Given the description of an element on the screen output the (x, y) to click on. 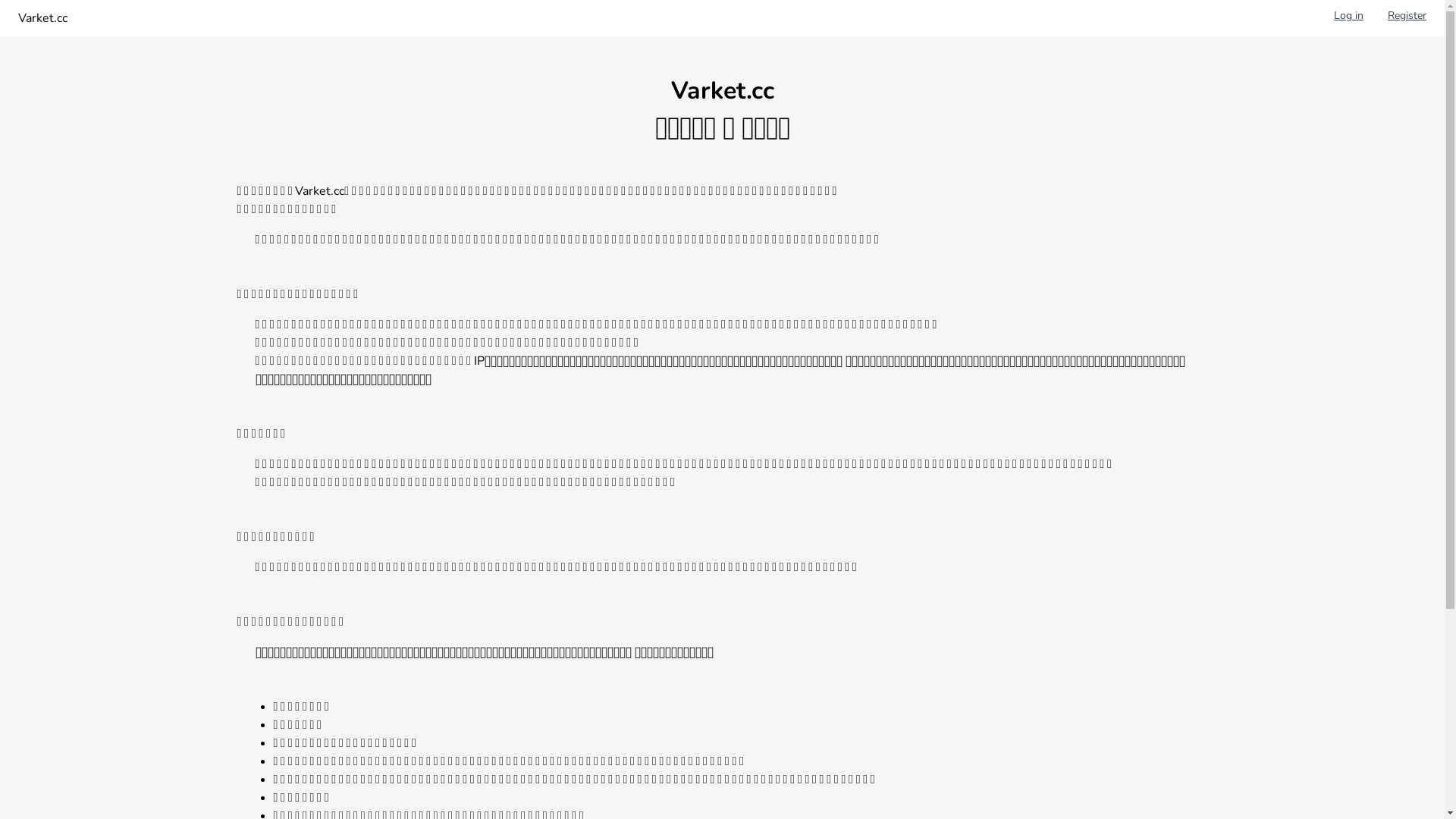
Varket.cc Element type: text (42, 18)
Register Element type: text (1406, 18)
Log in Element type: text (1348, 18)
